Given the description of an element on the screen output the (x, y) to click on. 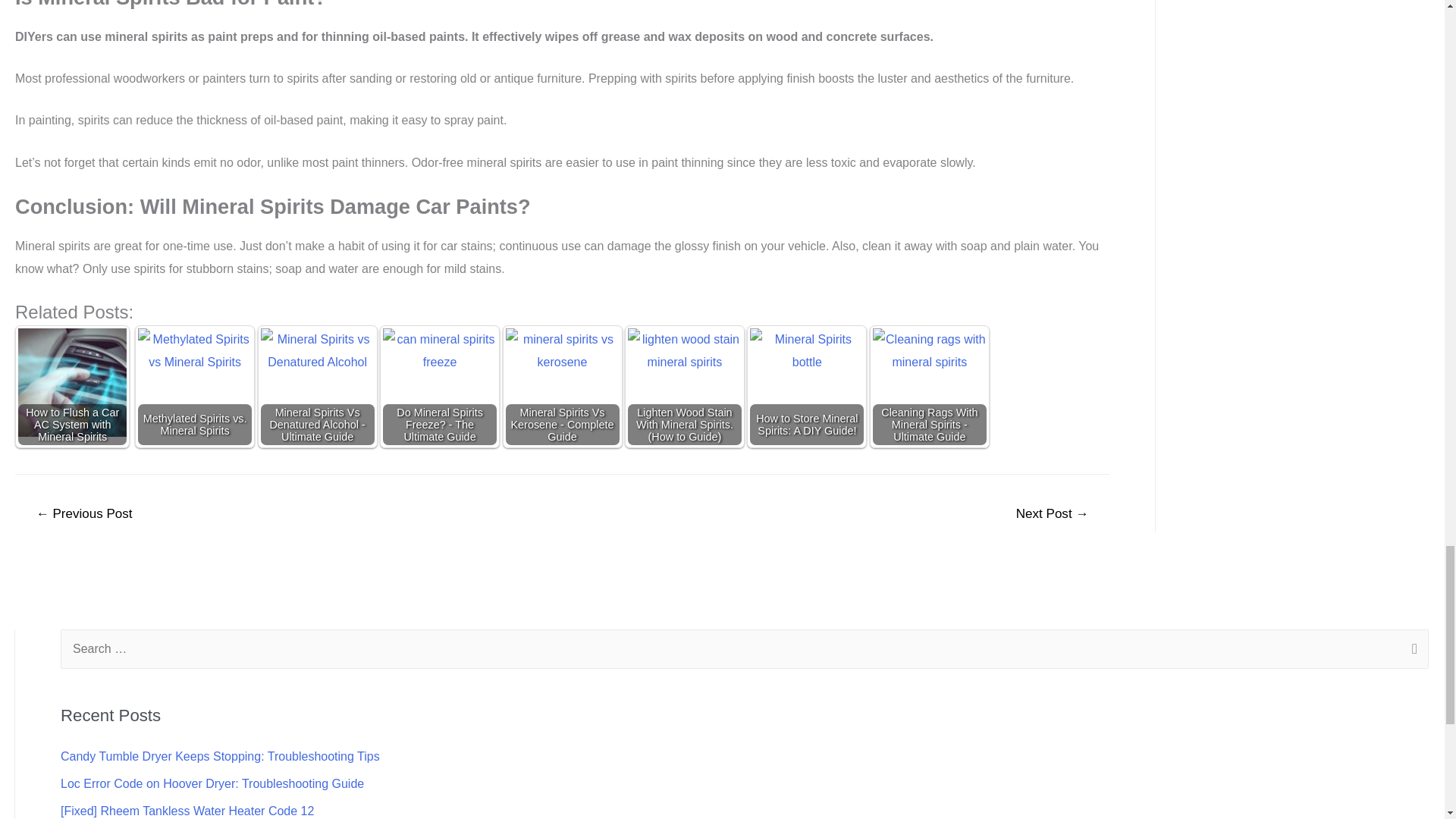
Methylated Spirits vs. Mineral Spirits (194, 385)
Mineral Spirits Vs Denatured Alcohol - Ultimate Guide (317, 385)
How to Store Mineral Spirits: A DIY Guide! (806, 385)
Mineral Spirits Vs Kerosene - Complete Guide (561, 385)
Do Mineral Spirits Freeze? - The Ultimate Guide (439, 385)
How to Flush a Car AC System with Mineral Spirits (71, 382)
Cleaning Rags With Mineral Spirits - Ultimate Guide (929, 385)
